Given the description of an element on the screen output the (x, y) to click on. 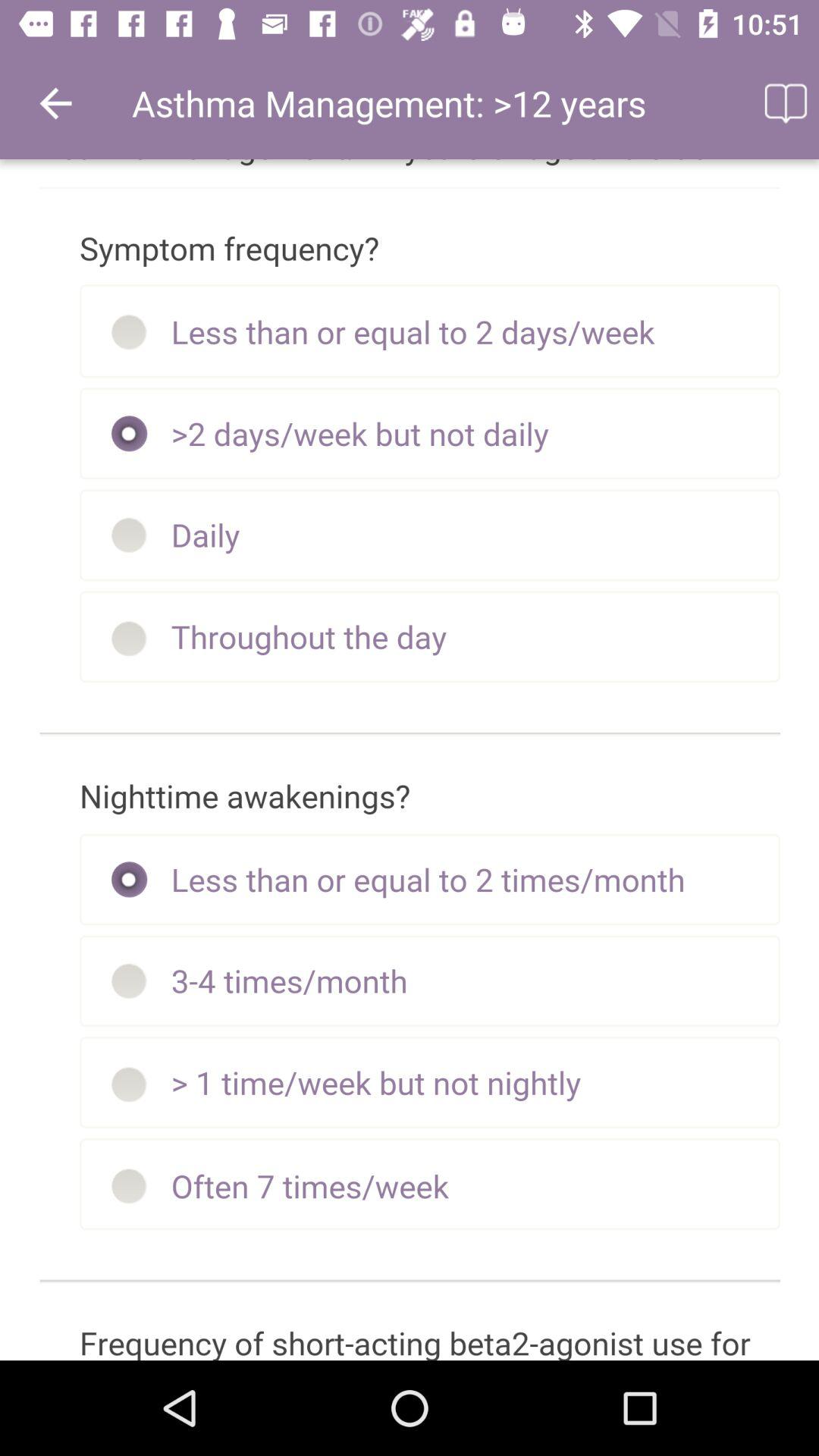
open the icon next to the asthma management 12 icon (784, 103)
